Given the description of an element on the screen output the (x, y) to click on. 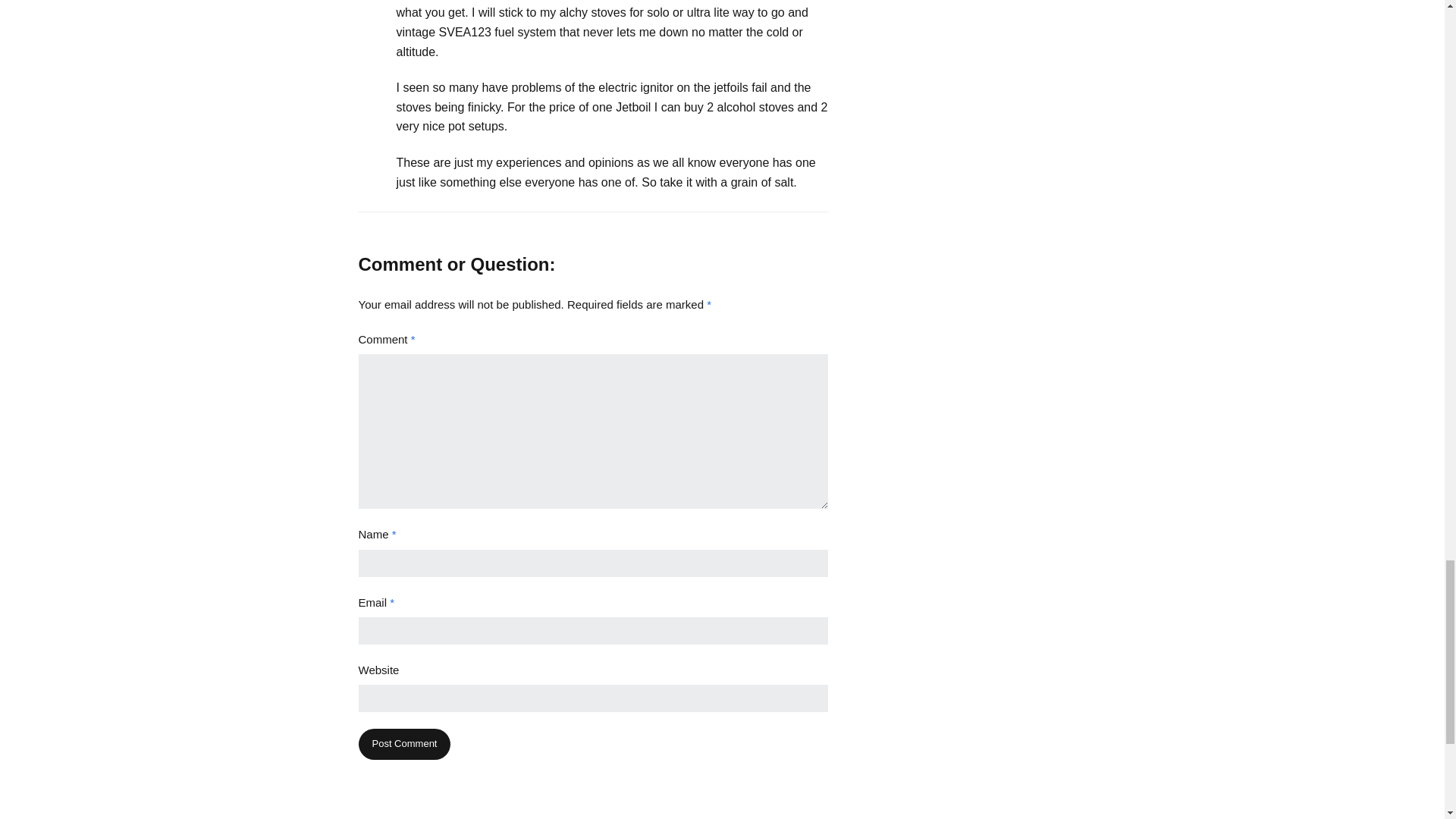
Post Comment (403, 744)
